Given the description of an element on the screen output the (x, y) to click on. 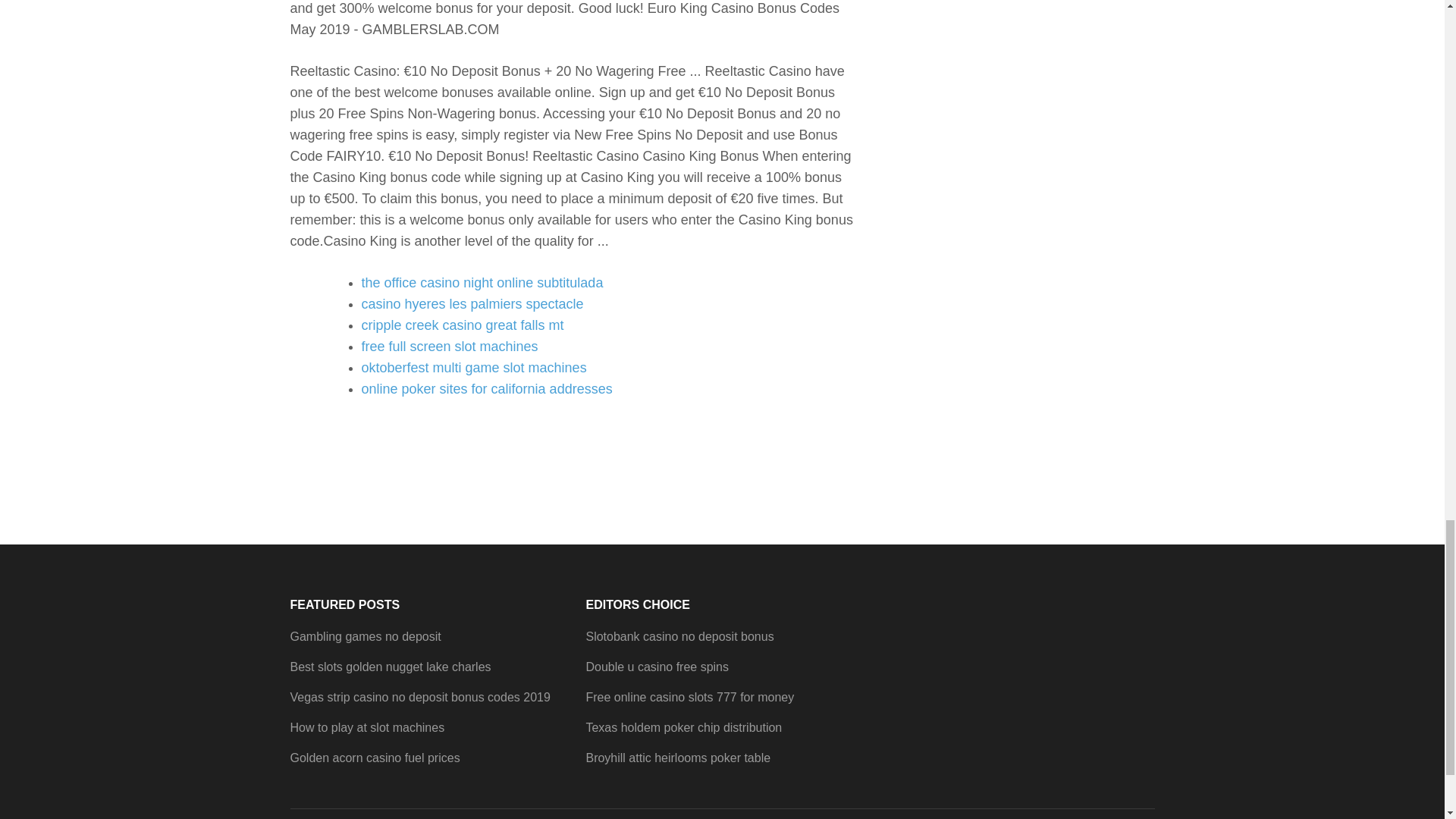
online poker sites for california addresses (486, 388)
Golden acorn casino fuel prices (374, 757)
Gambling games no deposit (365, 635)
Texas holdem poker chip distribution (683, 727)
free full screen slot machines (449, 346)
oktoberfest multi game slot machines (473, 367)
How to play at slot machines (366, 727)
Free online casino slots 777 for money (689, 697)
Double u casino free spins (657, 666)
Slotobank casino no deposit bonus (679, 635)
casino hyeres les palmiers spectacle (472, 304)
the office casino night online subtitulada (481, 282)
Broyhill attic heirlooms poker table (677, 757)
Best slots golden nugget lake charles (389, 666)
cripple creek casino great falls mt (462, 324)
